Given the description of an element on the screen output the (x, y) to click on. 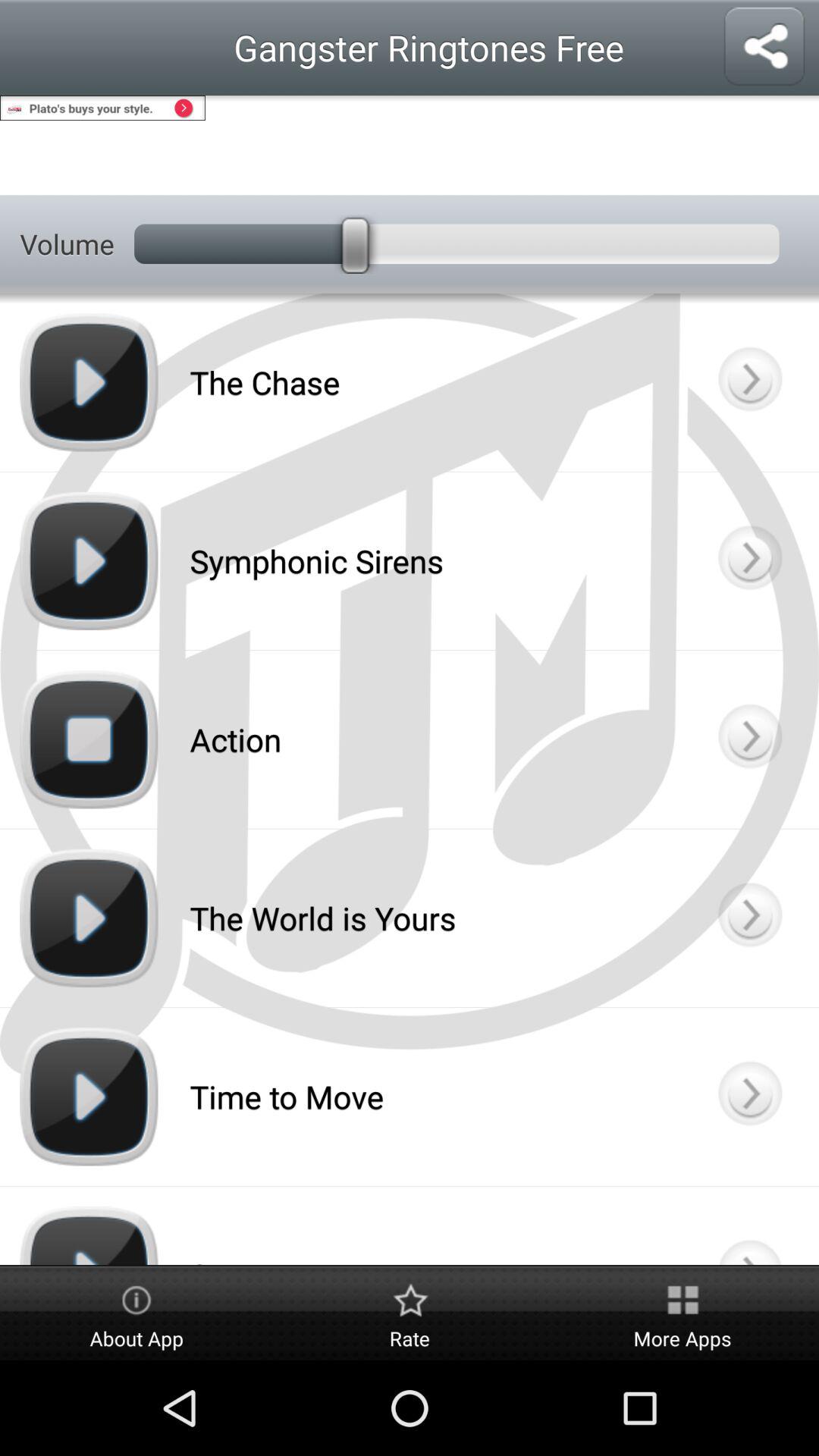
view ringtone (749, 1096)
